Given the description of an element on the screen output the (x, y) to click on. 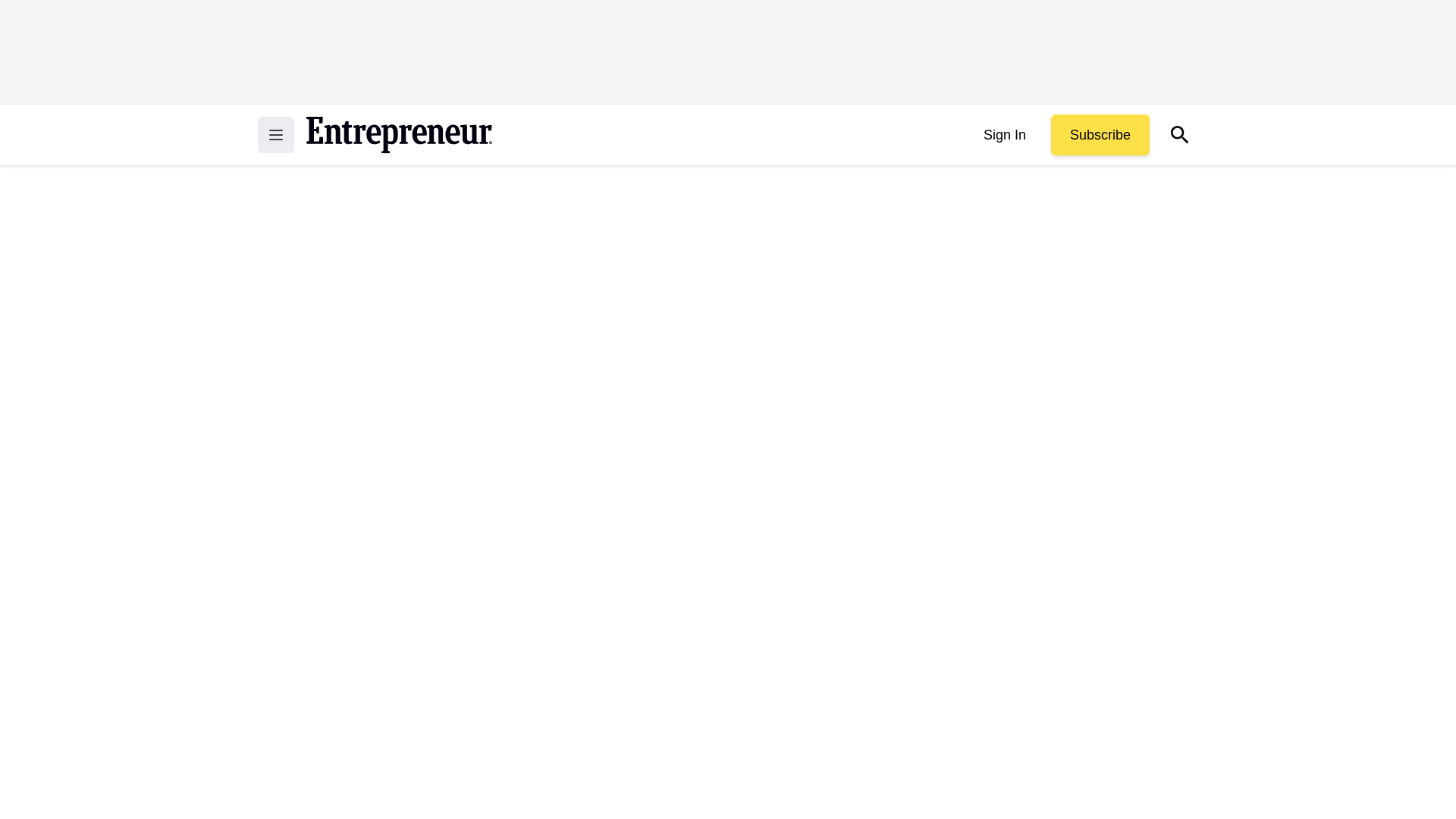
Subscribe (1100, 134)
Sign In (1004, 134)
Return to the home page (398, 135)
